Given the description of an element on the screen output the (x, y) to click on. 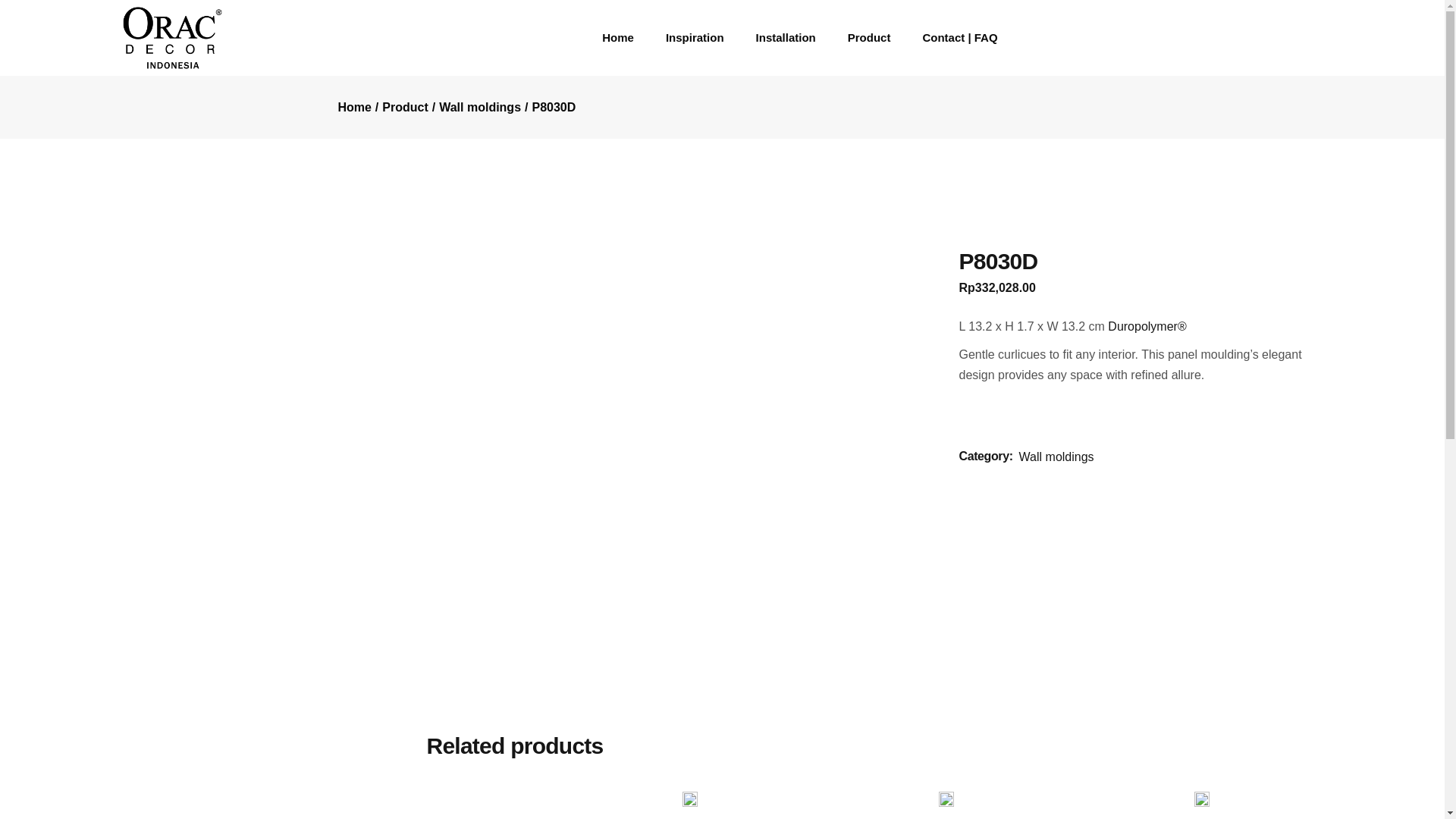
Wall moldings (480, 106)
Product (404, 106)
Wall moldings (1056, 456)
Home (354, 106)
